Given the description of an element on the screen output the (x, y) to click on. 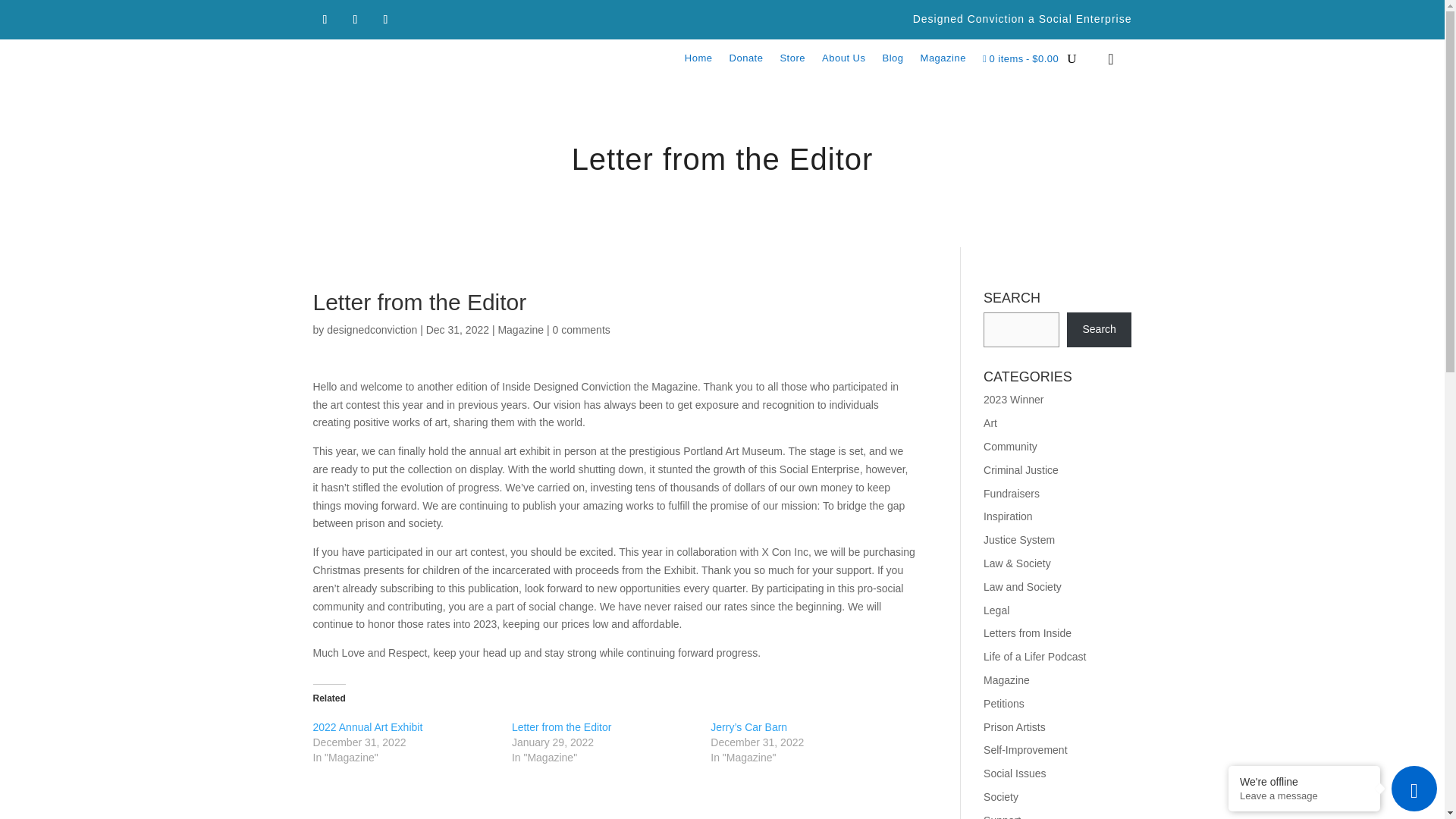
Store (791, 62)
About Us (843, 62)
2023 Winner (1013, 399)
Start shopping (1020, 62)
2022 Annual Art Exhibit (367, 727)
Criminal Justice (1021, 469)
Inspiration (1008, 516)
Follow on Instagram (354, 19)
Life of a Lifer Podcast (1035, 656)
Letter from the Editor (561, 727)
Magazine (943, 62)
Posts by designedconviction (371, 329)
Magazine (520, 329)
Leave a message (1304, 795)
Fundraisers (1011, 493)
